Given the description of an element on the screen output the (x, y) to click on. 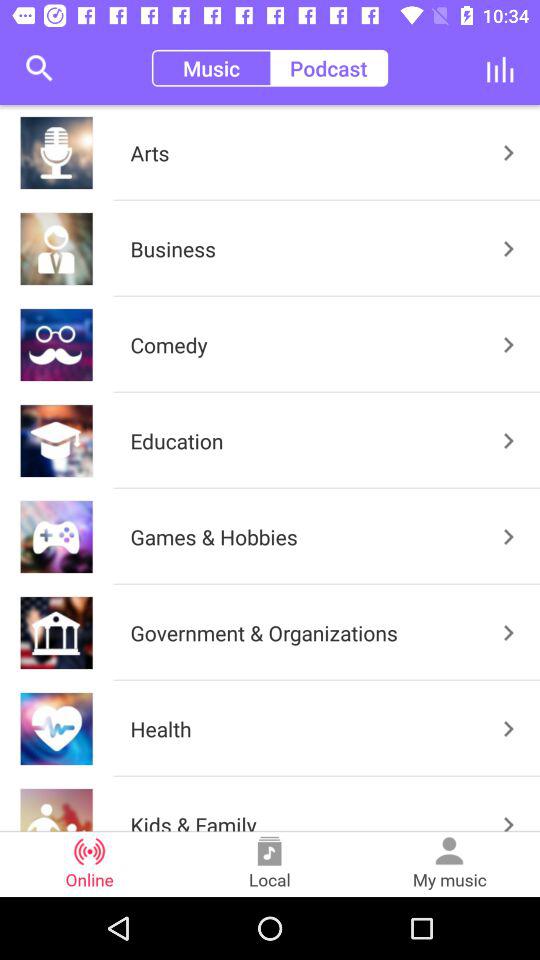
turn on the icon next to local (450, 863)
